Given the description of an element on the screen output the (x, y) to click on. 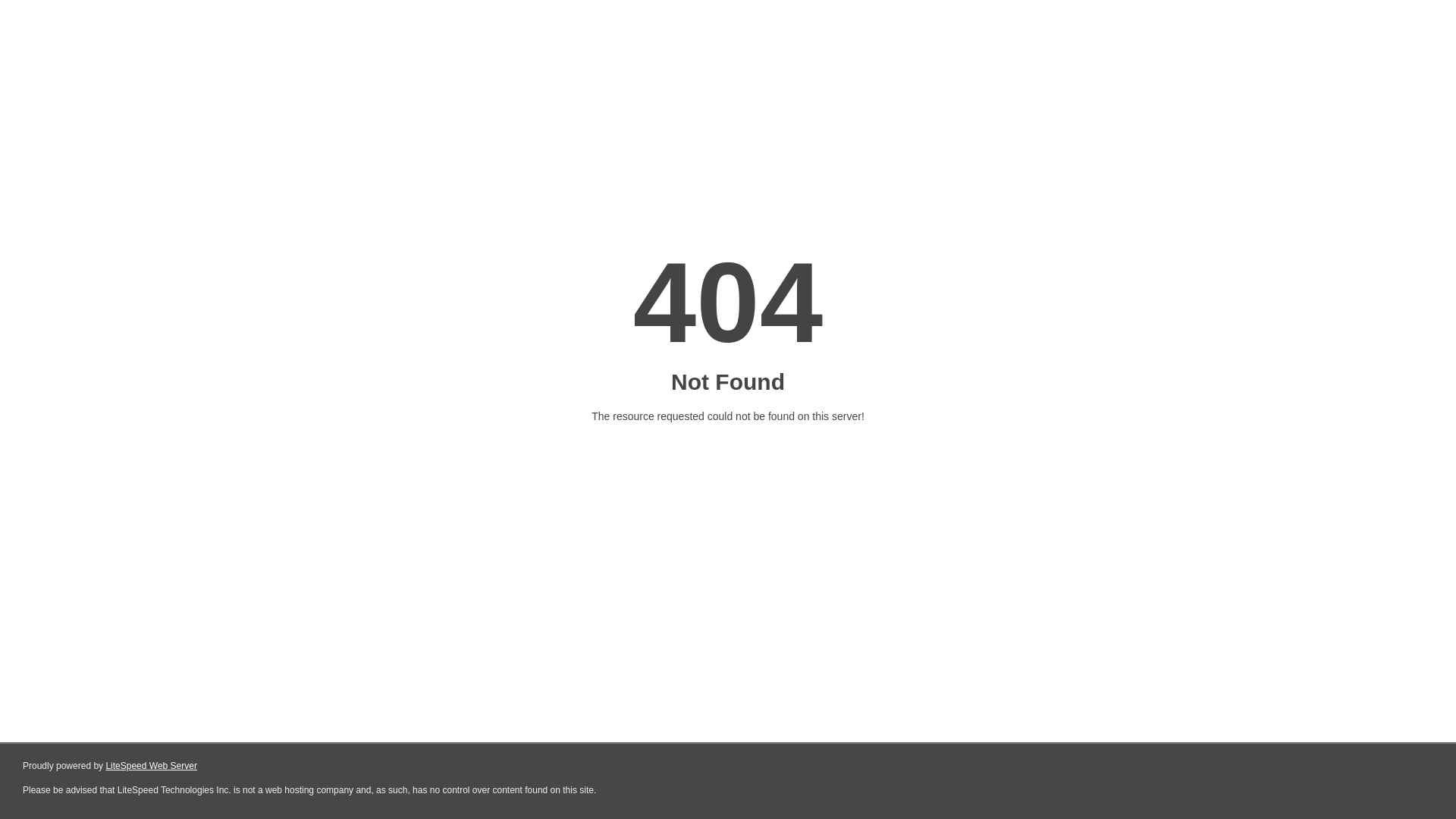
LiteSpeed Web Server Element type: text (151, 765)
